Given the description of an element on the screen output the (x, y) to click on. 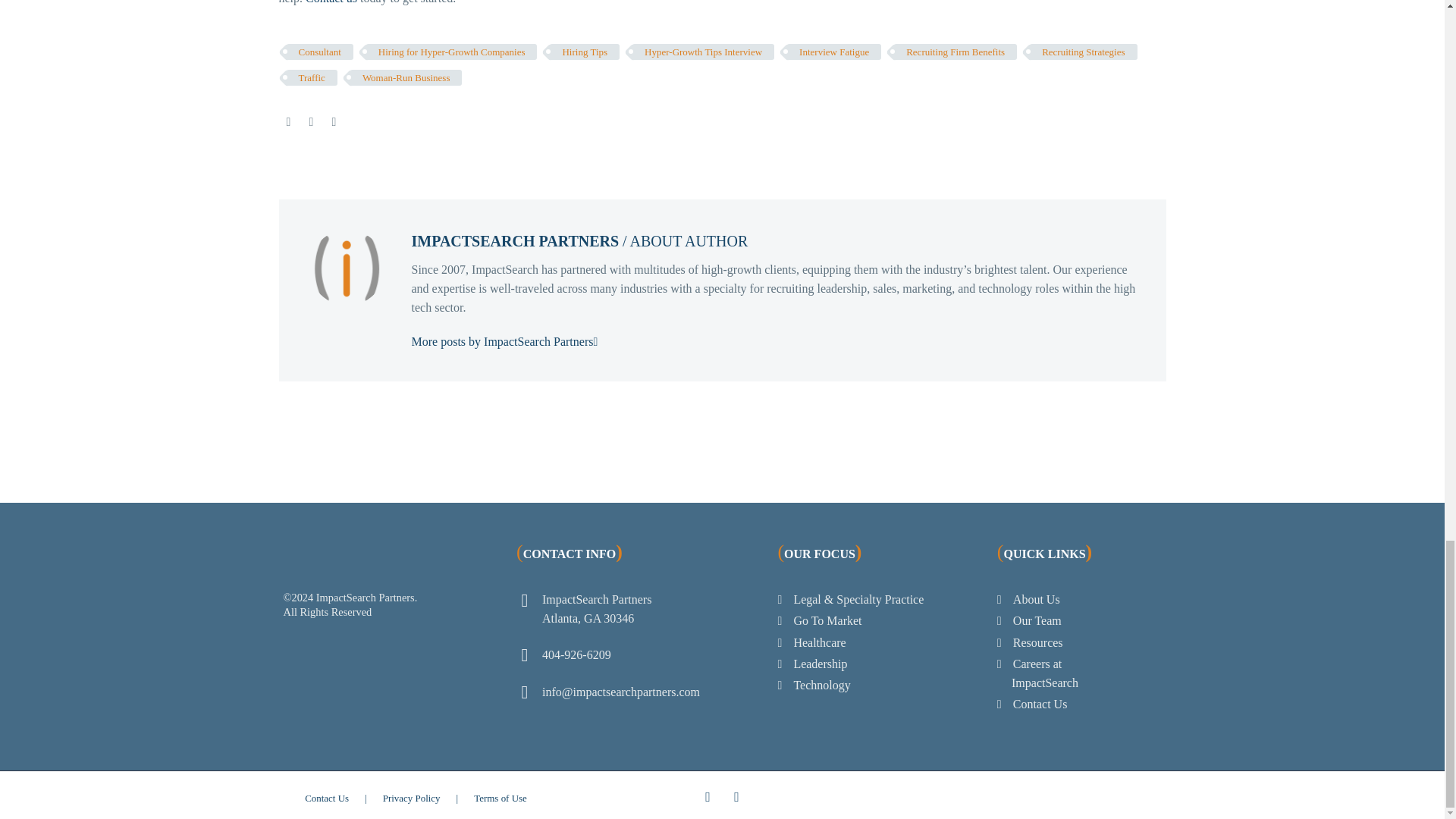
Hyper-Growth Tips Interview (702, 51)
LinkedIn (333, 121)
Twitter (310, 121)
Contact us (330, 2)
Recruiting Strategies (1083, 51)
More posts by ImpactSearch Partners (505, 341)
Facebook (288, 121)
Hiring for Hyper-Growth Companies (451, 51)
Interview Fatigue (833, 51)
Woman-Run Business (406, 77)
Go To Market (827, 620)
404-926-6209 (576, 654)
Traffic (311, 77)
Consultant (319, 51)
Hiring Tips (585, 51)
